Given the description of an element on the screen output the (x, y) to click on. 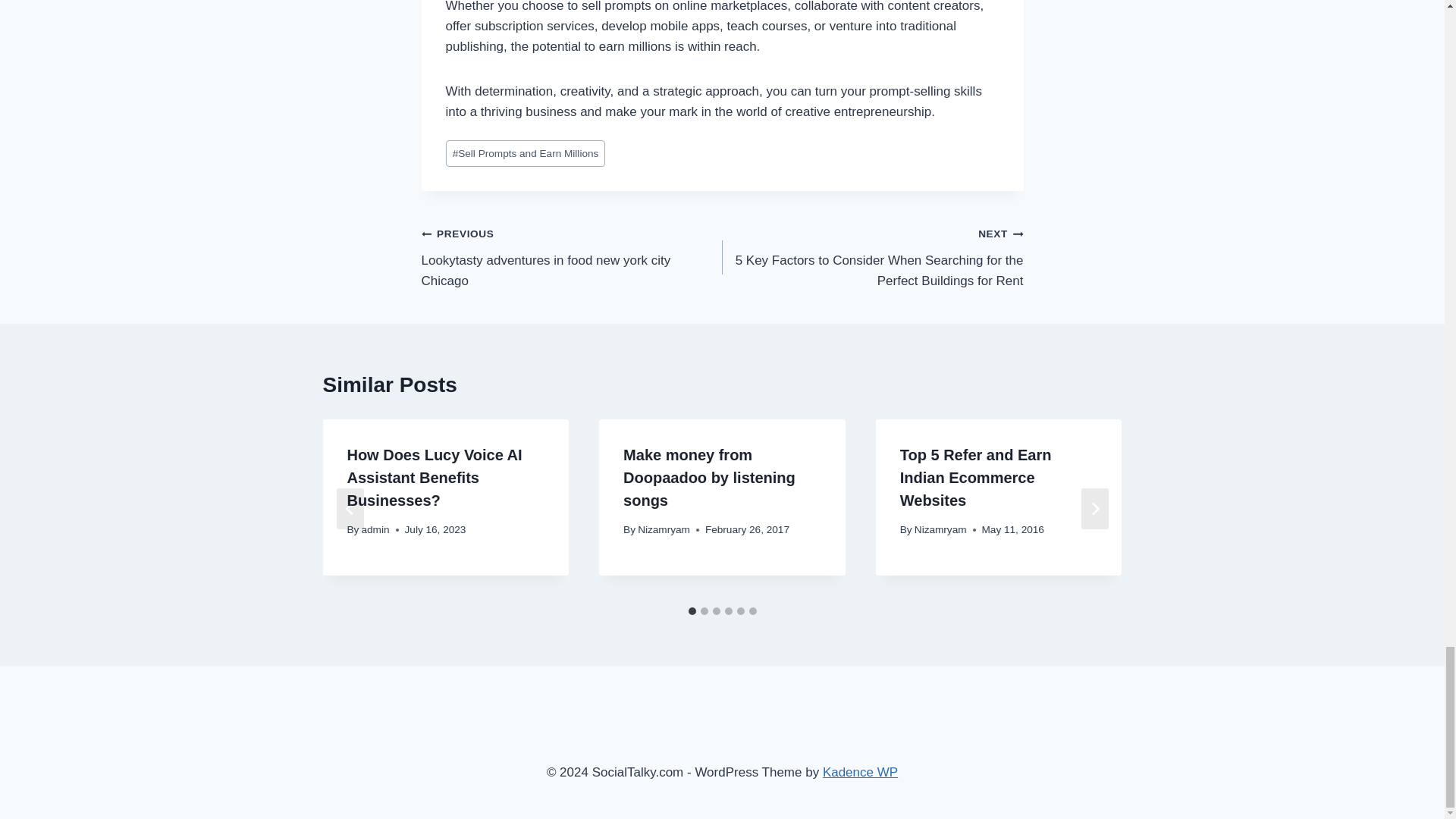
Sell Prompts and Earn Millions (572, 256)
